Given the description of an element on the screen output the (x, y) to click on. 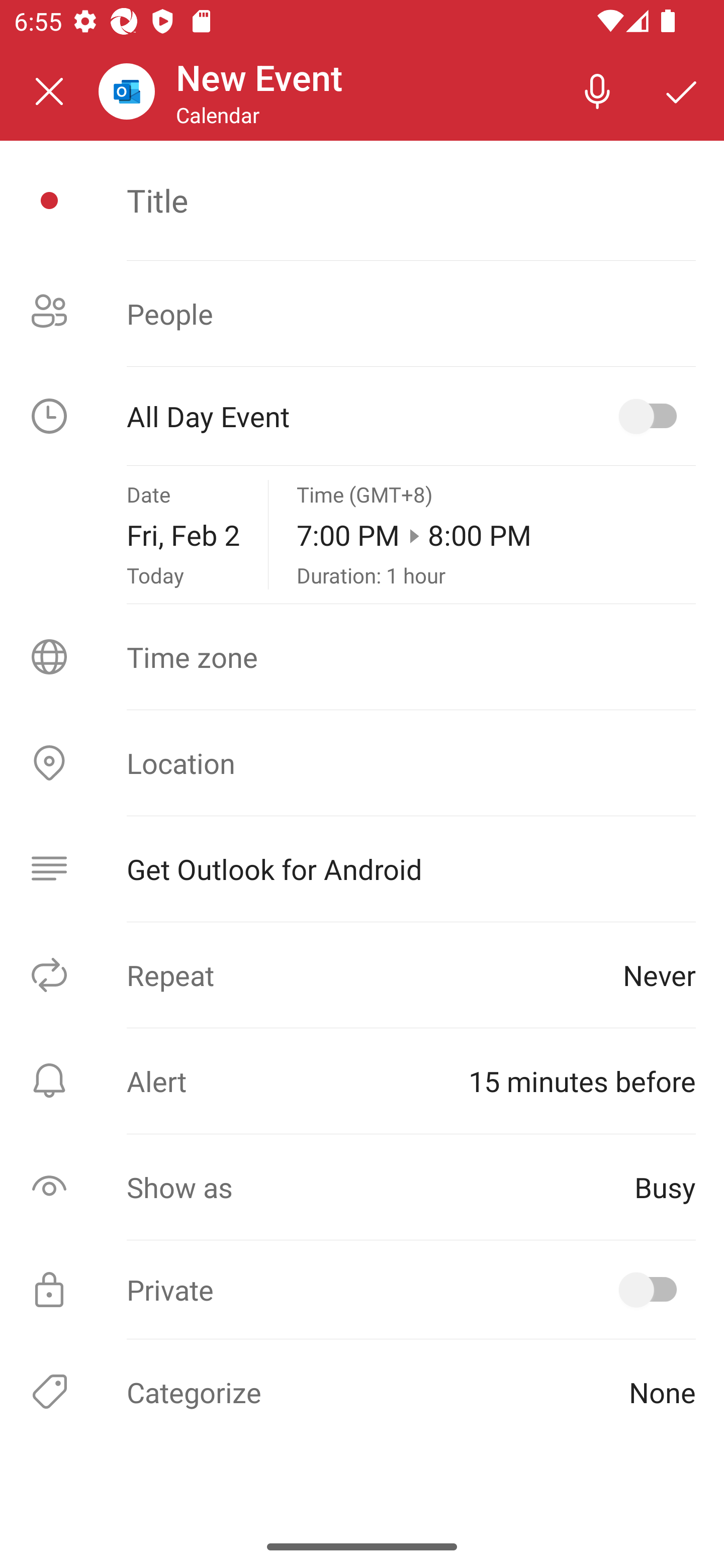
Close (49, 91)
Save button (681, 90)
Title (410, 200)
Event icon picker (48, 200)
People (362, 313)
All Day Event (362, 415)
Date Fri, Feb 2 Today (182, 534)
Time (GMT+8) 7:00 PM ▸ 8:00 PM Duration: 1 hour (496, 534)
Time zone (362, 656)
Location (362, 762)
Repeat Never (362, 974)
Alert ⁨15 minutes before (362, 1080)
Show as Busy (362, 1186)
Private (362, 1289)
Categorize None (362, 1391)
